Given the description of an element on the screen output the (x, y) to click on. 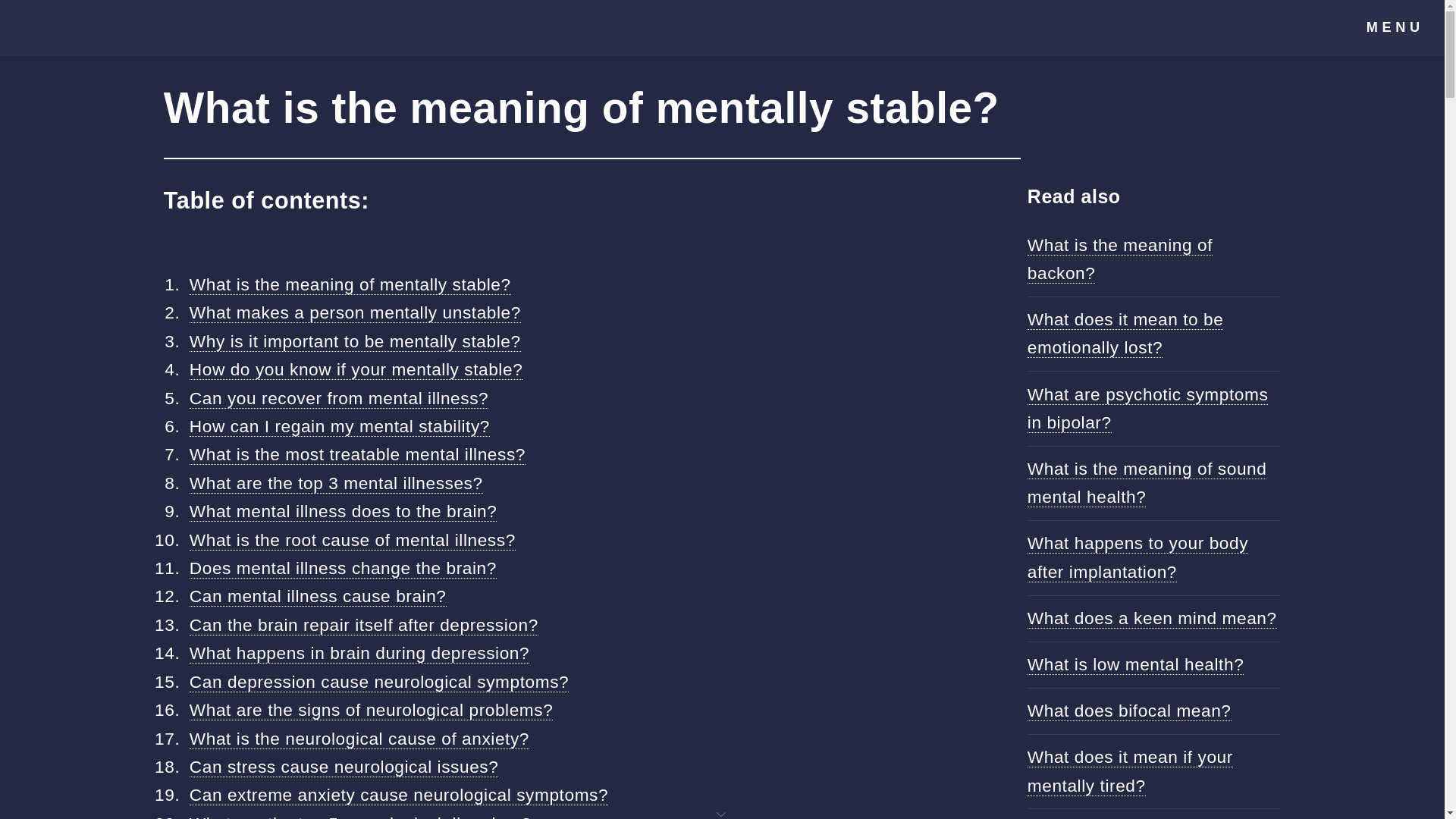
What is the meaning of sound mental health? (1146, 482)
What is the root cause of mental illness? (352, 539)
What is the most treatable mental illness? (357, 454)
What are the top 5 neurological disorders? (360, 816)
Ad.Plus Advertising (722, 813)
What are the top 3 mental illnesses? (336, 483)
Can extreme anxiety cause neurological symptoms? (398, 794)
What is the meaning of backon? (1119, 259)
Can stress cause neurological issues? (344, 766)
Does mental illness change the brain? (342, 567)
What does it mean to be emotionally lost? (1125, 333)
Why is it important to be mentally stable? (355, 341)
What are psychotic symptoms in bipolar? (1147, 408)
What mental illness does to the brain? (343, 511)
Can the brain repair itself after depression? (363, 625)
